Given the description of an element on the screen output the (x, y) to click on. 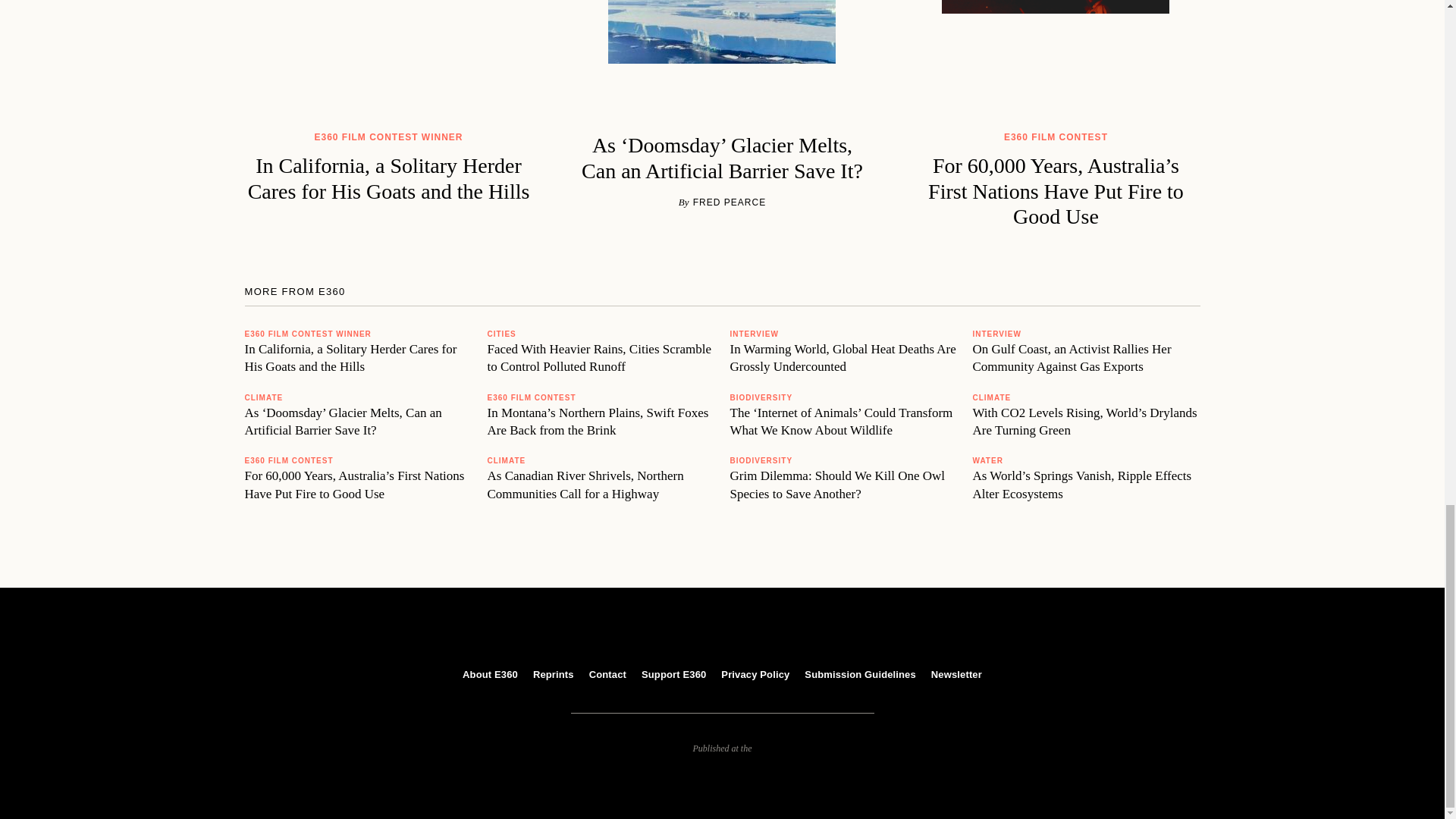
E360 FILM CONTEST WINNER (307, 334)
E360 FILM CONTEST (288, 460)
CITIES (500, 334)
INTERVIEW (753, 334)
BIODIVERSITY (760, 397)
CLIMATE (505, 460)
E360 FILM CONTEST (530, 397)
